Given the description of an element on the screen output the (x, y) to click on. 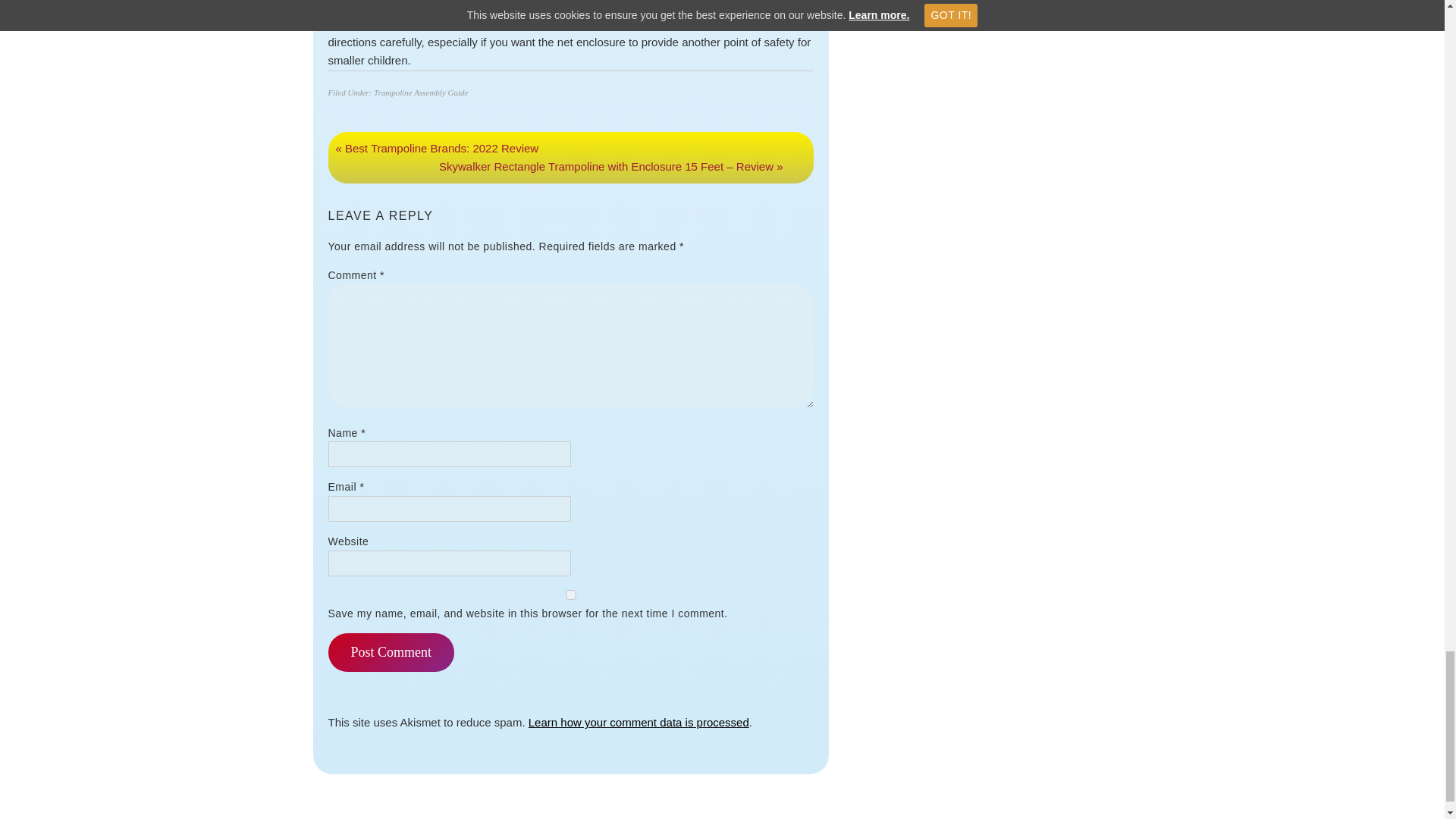
best trampoline brands (385, 23)
Trampoline Assembly Guide (420, 92)
Post Comment (390, 652)
yes (569, 594)
Post Comment (390, 652)
Learn how your comment data is processed (638, 721)
